Given the description of an element on the screen output the (x, y) to click on. 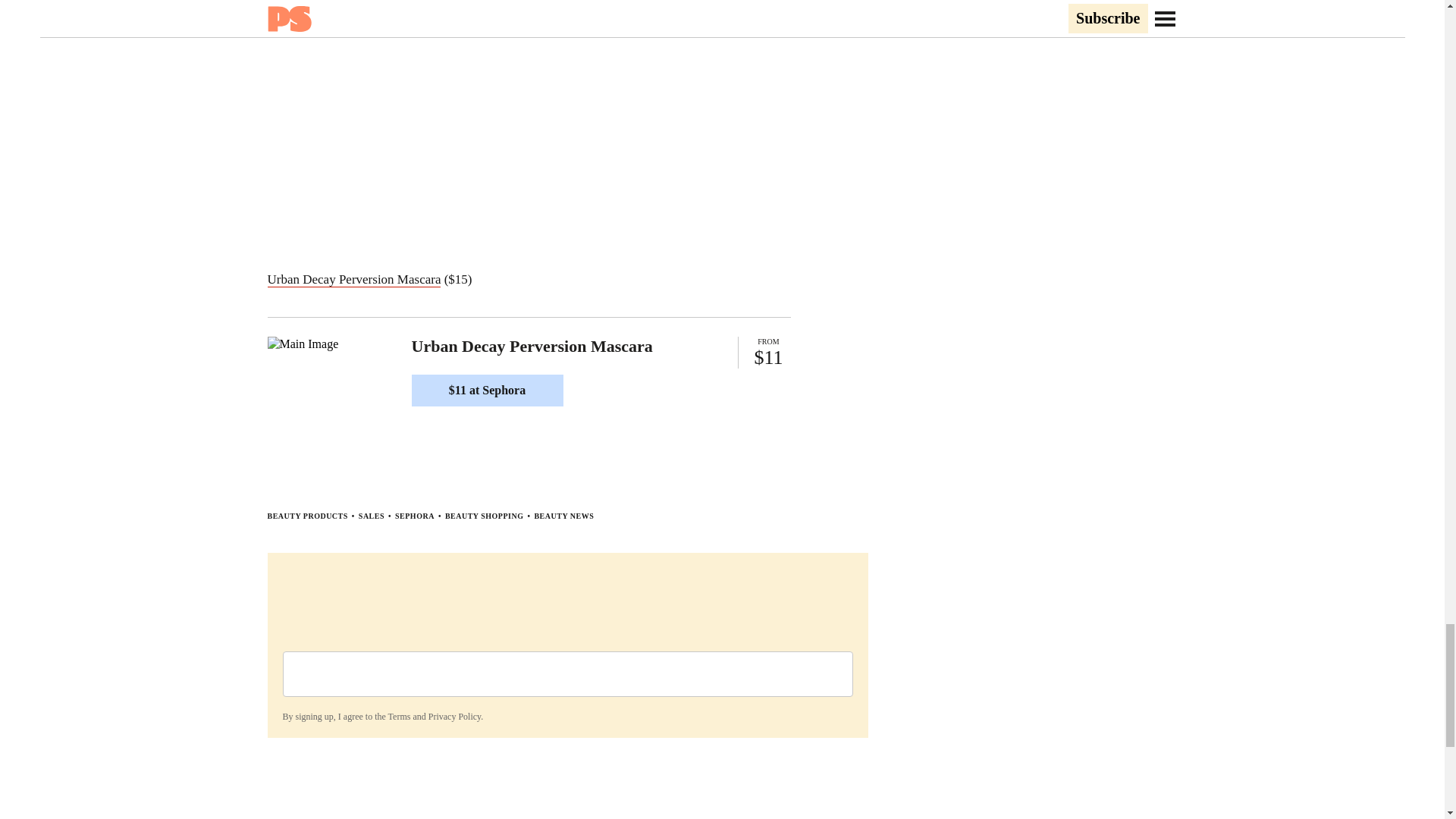
SEPHORA (413, 515)
BEAUTY SHOPPING (484, 515)
BEAUTY PRODUCTS (306, 515)
Terms (399, 716)
Privacy Policy. (455, 716)
BEAUTY NEWS (564, 515)
SALES (371, 515)
Urban Decay Perversion Mascara (353, 279)
